Given the description of an element on the screen output the (x, y) to click on. 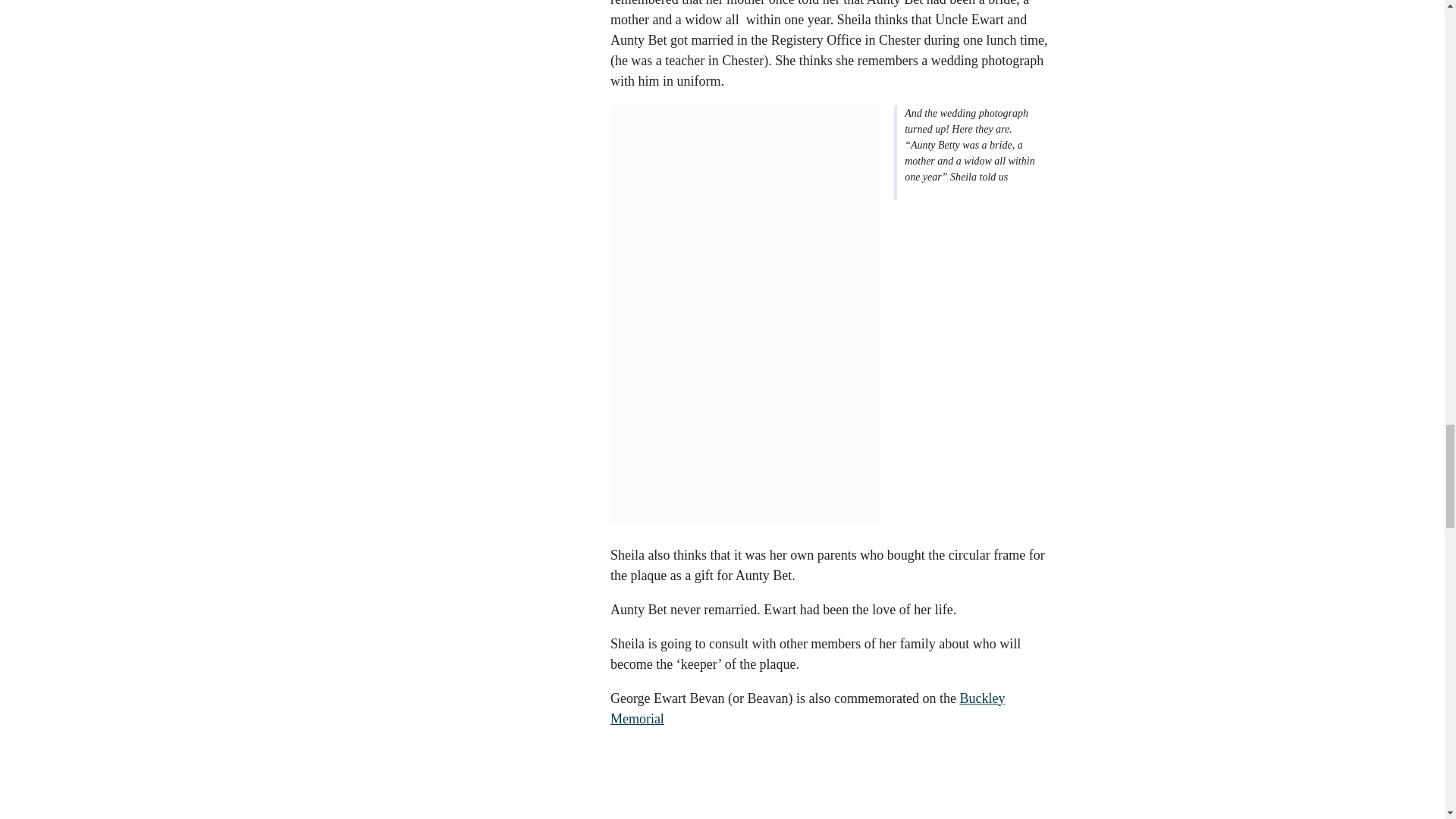
Buckley Memorial (808, 708)
